Given the description of an element on the screen output the (x, y) to click on. 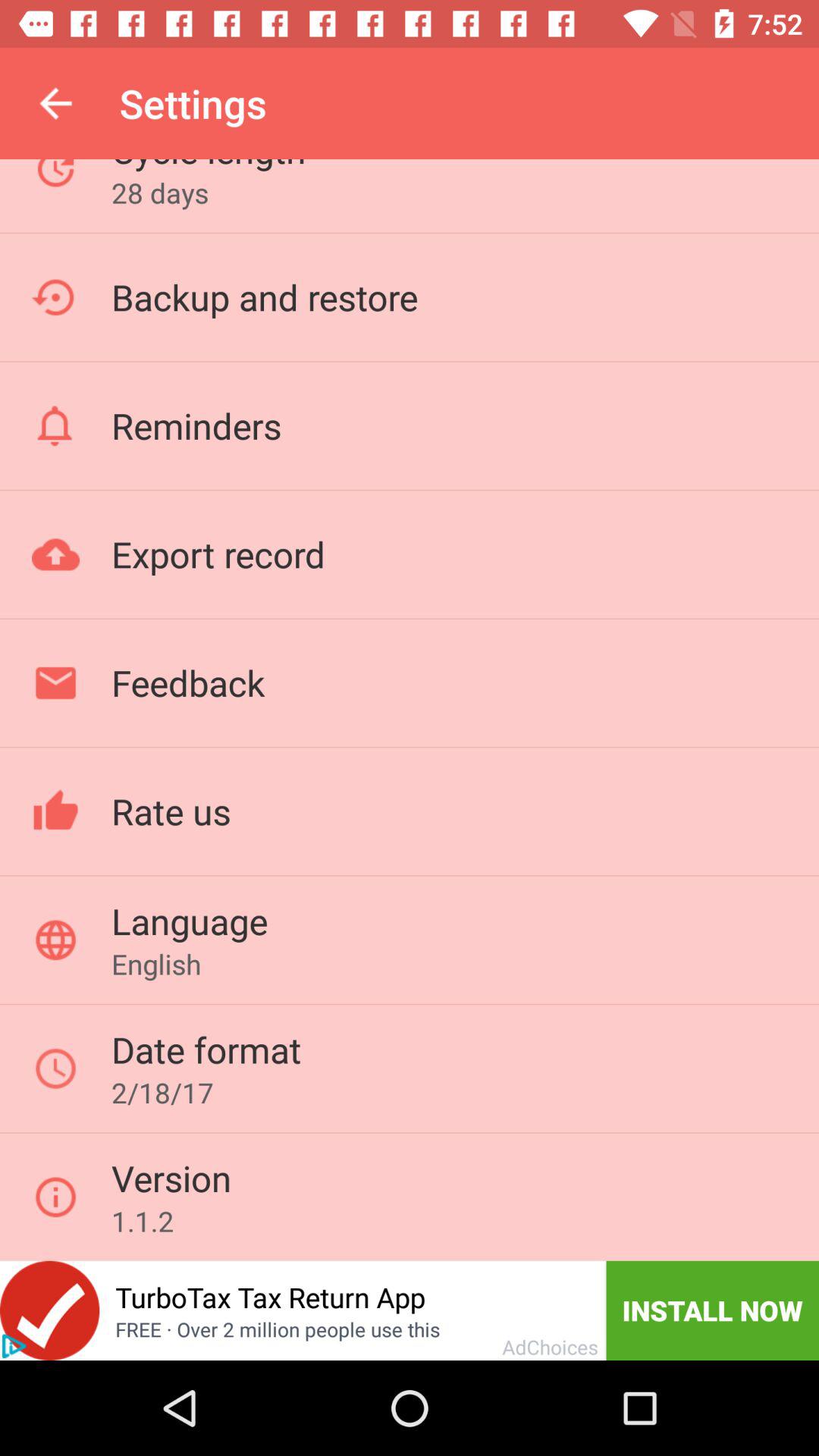
choose the date format item (206, 1049)
